Given the description of an element on the screen output the (x, y) to click on. 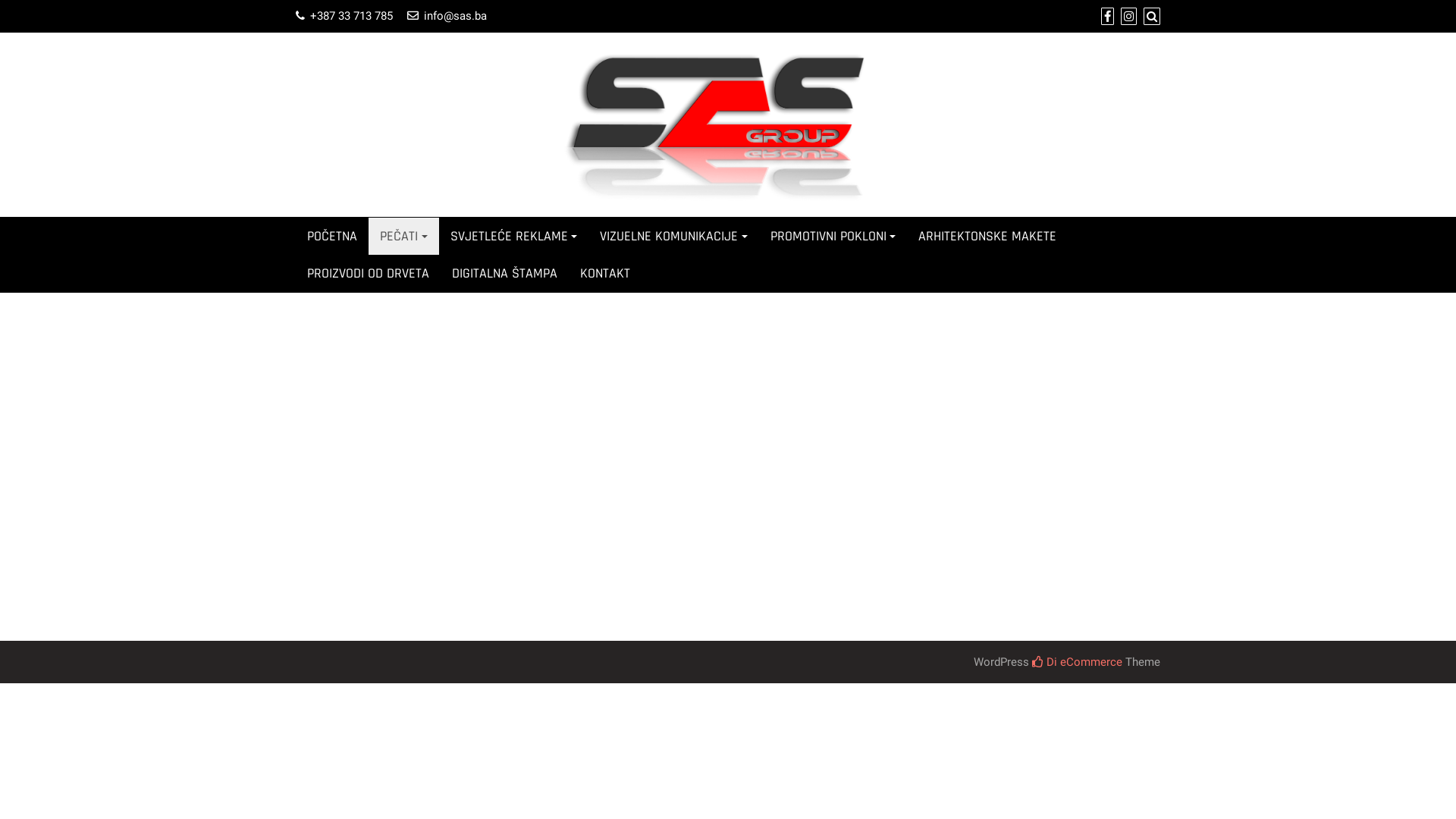
KONTAKT Element type: text (604, 272)
ARHITEKTONSKE MAKETE Element type: text (986, 235)
PROIZVODI OD DRVETA Element type: text (367, 272)
info@sas.ba Element type: text (454, 15)
+387 33 713 785 Element type: text (351, 15)
Di eCommerce Element type: text (1077, 661)
VIZUELNE KOMUNIKACIJE Element type: text (673, 235)
PROMOTIVNI POKLONI Element type: text (833, 235)
